Given the description of an element on the screen output the (x, y) to click on. 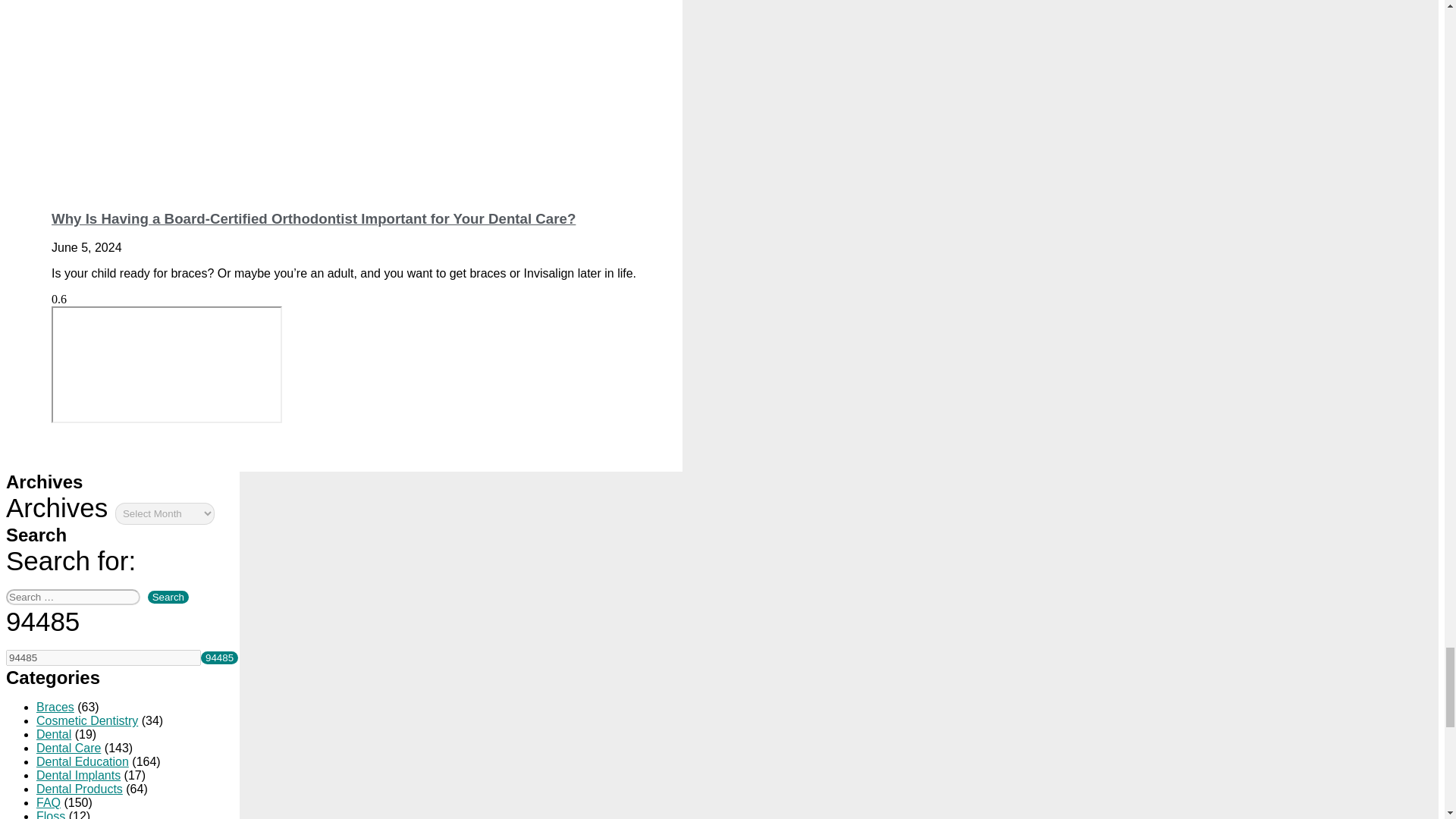
Search (168, 596)
94485 (102, 657)
94485 (219, 657)
Parkcrest Dental Group (166, 364)
94485 (102, 657)
Search (168, 596)
94485 (219, 657)
